Given the description of an element on the screen output the (x, y) to click on. 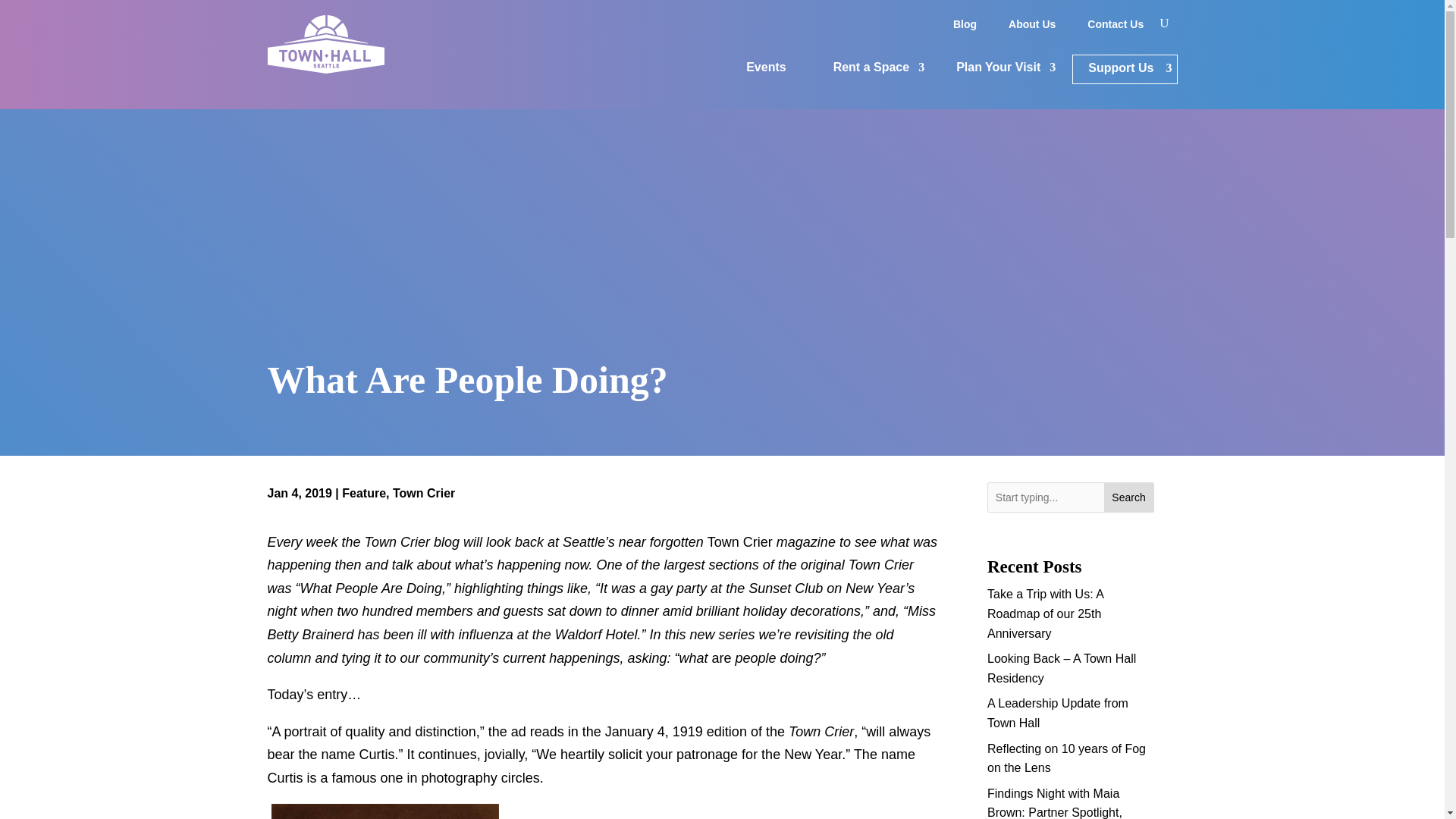
Rent a Space (871, 69)
Blog (964, 27)
About Us (1031, 27)
Events (765, 69)
Plan Your Visit (997, 69)
Blog (964, 27)
Support Us (1123, 69)
Plan Your Visit (997, 69)
Support Us (1123, 69)
Town Hall Logo (325, 44)
Contact Us (1115, 27)
About Us (1031, 27)
Rent a Space (871, 69)
